Given the description of an element on the screen output the (x, y) to click on. 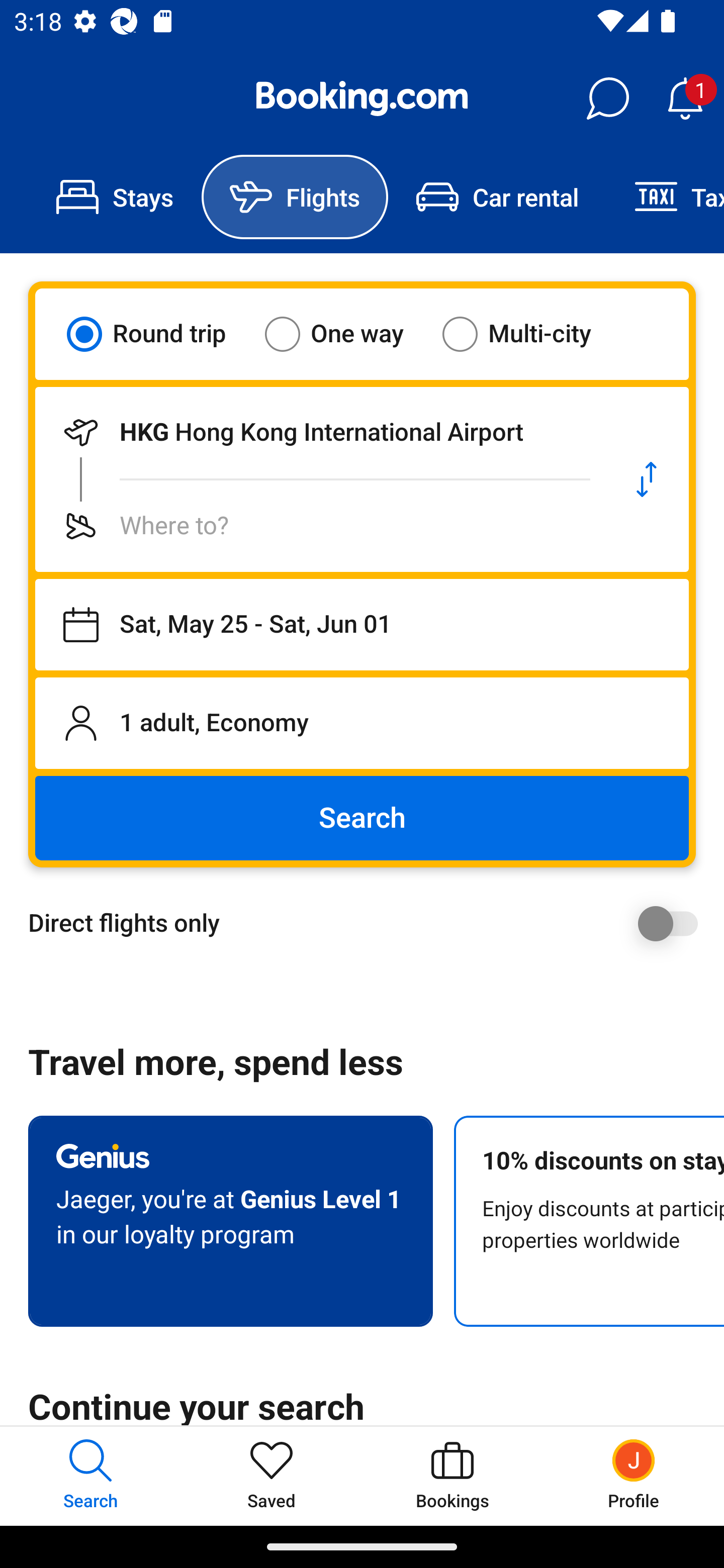
Messages (607, 98)
Notifications (685, 98)
Stays (114, 197)
Flights (294, 197)
Car rental (497, 197)
Taxi (665, 197)
One way (346, 333)
Multi-city (528, 333)
Departing from HKG Hong Kong International Airport (319, 432)
Swap departure location and destination (646, 479)
Flying to  (319, 525)
Departing on Sat, May 25, returning on Sat, Jun 01 (361, 624)
1 adult, Economy (361, 722)
Search (361, 818)
Direct flights only (369, 923)
Saved (271, 1475)
Bookings (452, 1475)
Profile (633, 1475)
